Given the description of an element on the screen output the (x, y) to click on. 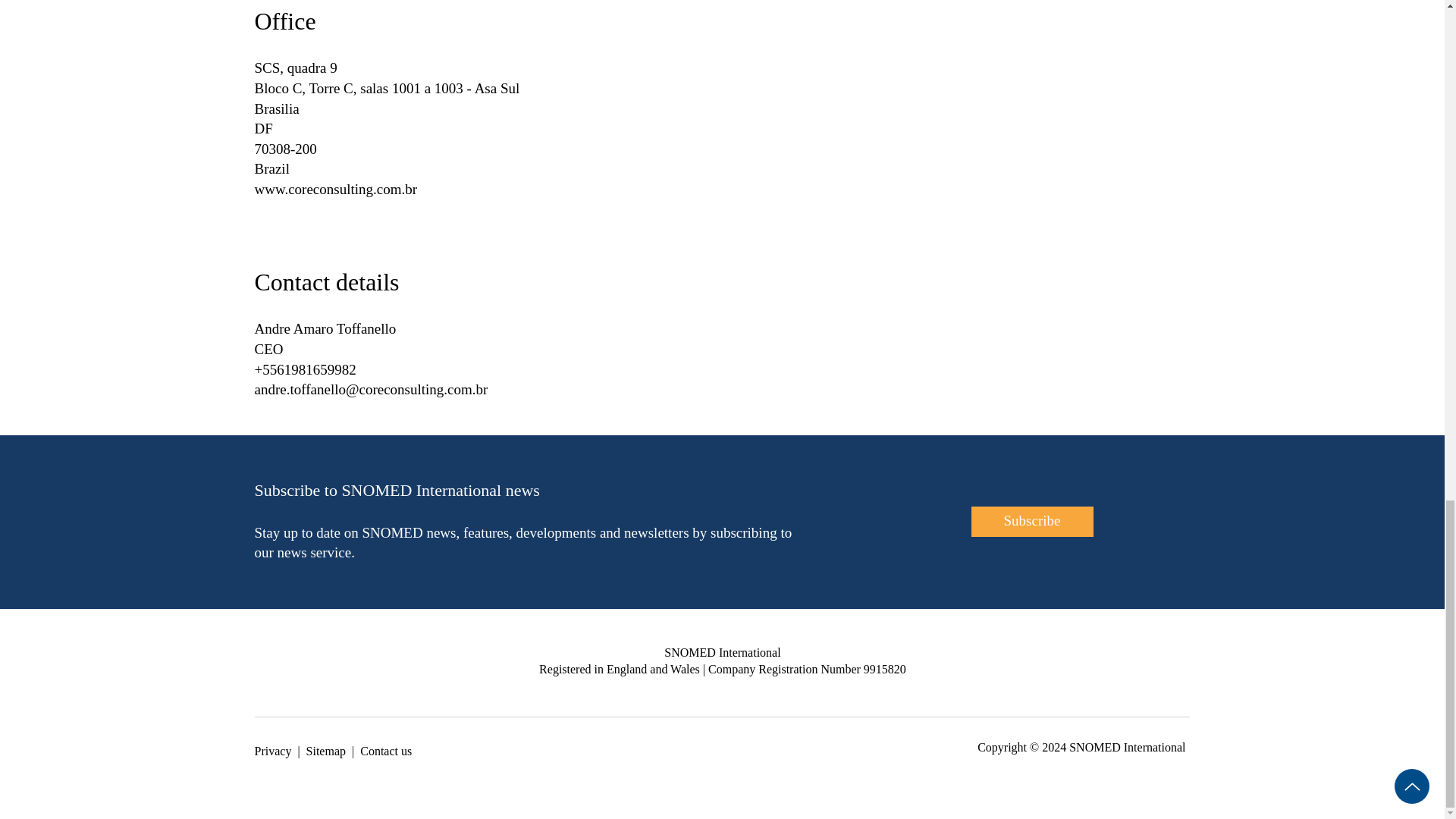
www.coreconsulting.com.br (335, 188)
Privacy (273, 750)
Subscribe (1032, 521)
